Given the description of an element on the screen output the (x, y) to click on. 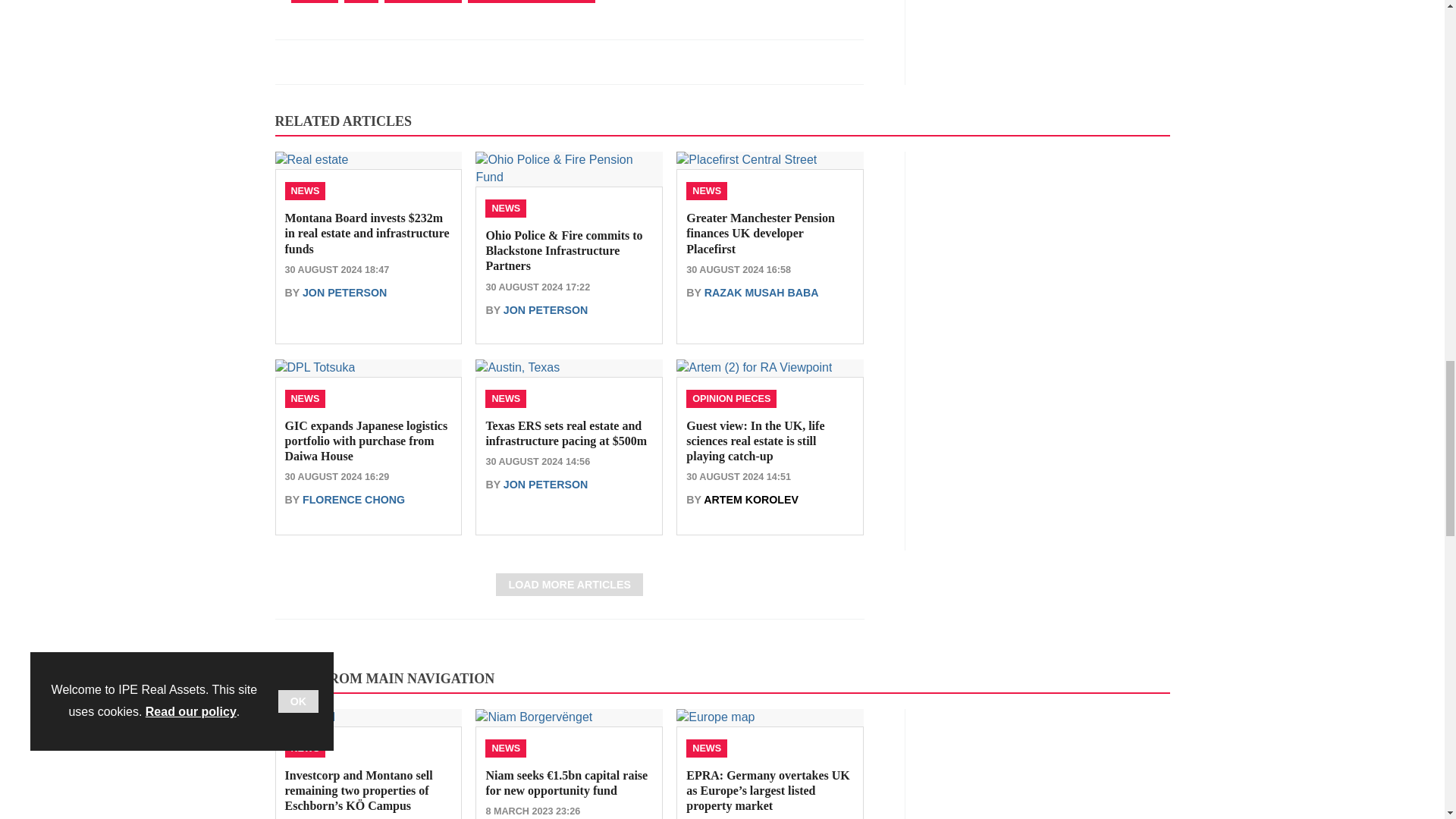
Email this article (386, 61)
Share this on Facebook (288, 61)
Share this on Twitter (320, 61)
Share this on Linked in (352, 61)
